Given the description of an element on the screen output the (x, y) to click on. 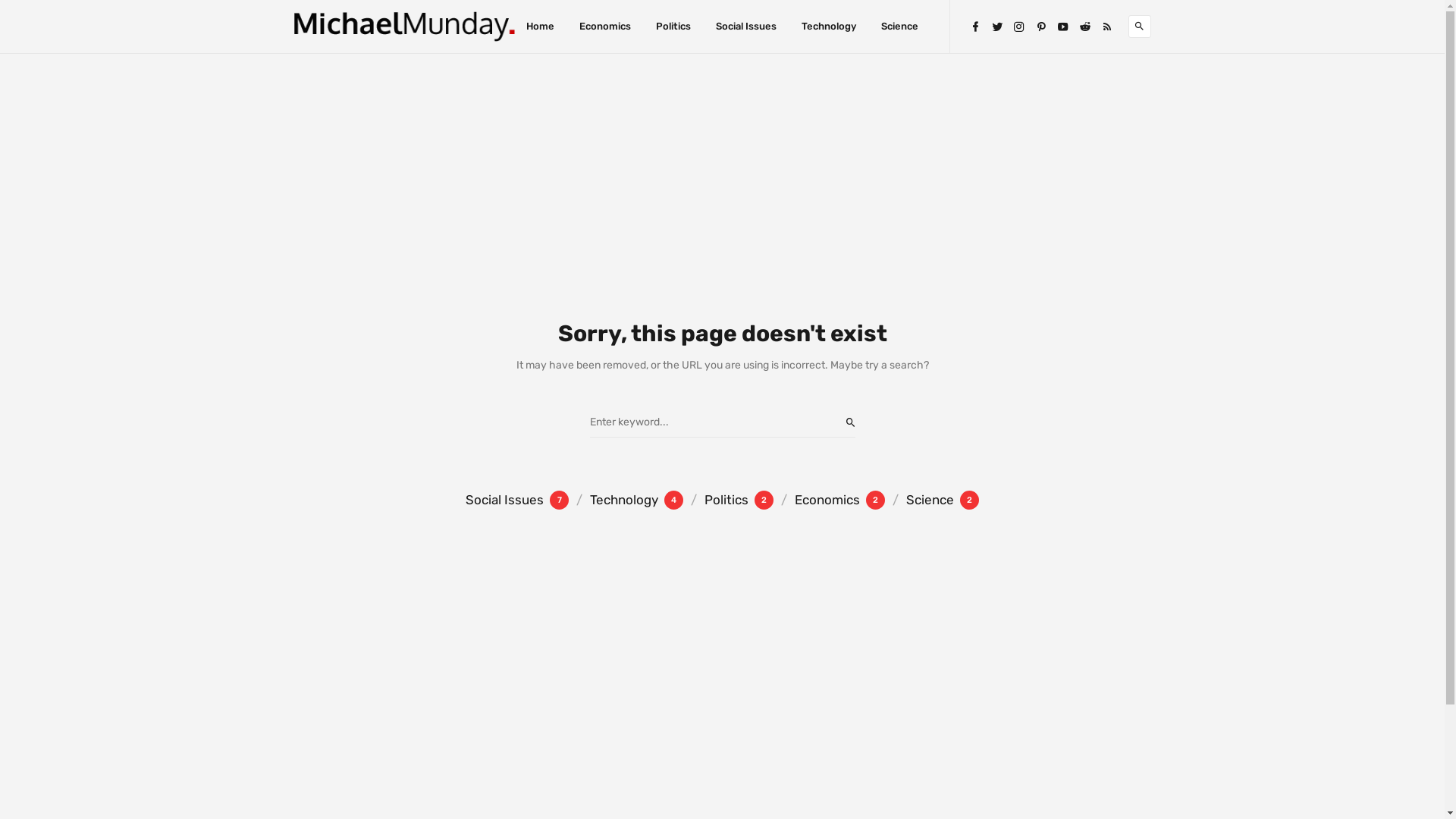
Economics
2 Element type: text (828, 499)
YouTube Element type: hover (1063, 26)
Social Issues Element type: text (745, 26)
Politics
2 Element type: text (728, 499)
Facebook Element type: hover (975, 26)
Science
2 Element type: text (931, 499)
Home Element type: text (540, 26)
Politics Element type: text (672, 26)
Economics Element type: text (604, 26)
Instagram Element type: hover (1019, 26)
Technology
4 Element type: text (625, 499)
Pinterest Element type: hover (1040, 26)
Technology Element type: text (828, 26)
Reddit Element type: hover (1084, 26)
Twitter Element type: hover (996, 26)
RSS Element type: hover (1107, 26)
Science Element type: text (899, 26)
Social Issues
7 Element type: text (516, 499)
